Given the description of an element on the screen output the (x, y) to click on. 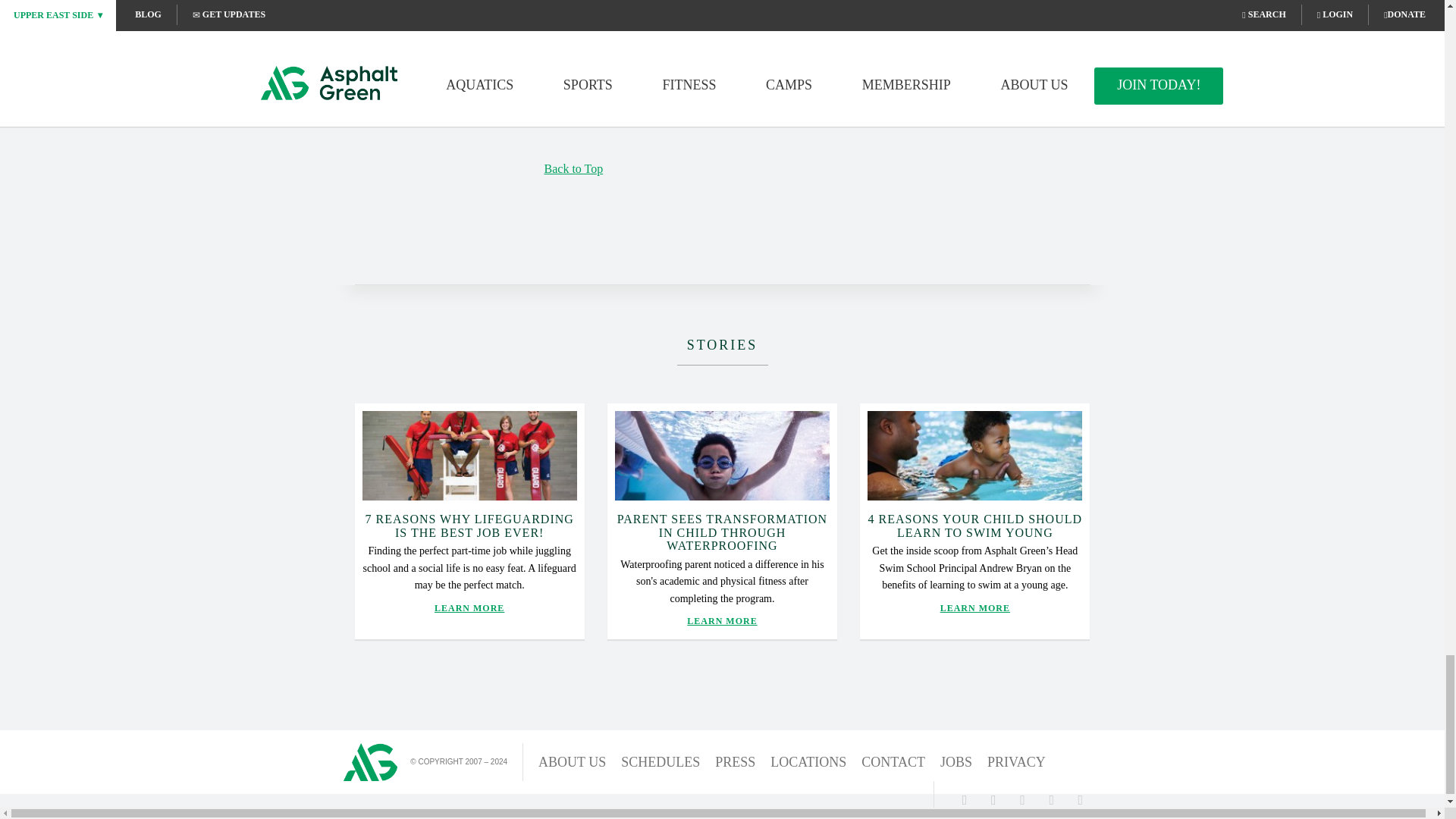
Foursquare (1051, 799)
Instagram (1022, 799)
Facebook (964, 799)
Yelp (1079, 799)
Twitter (993, 799)
